Given the description of an element on the screen output the (x, y) to click on. 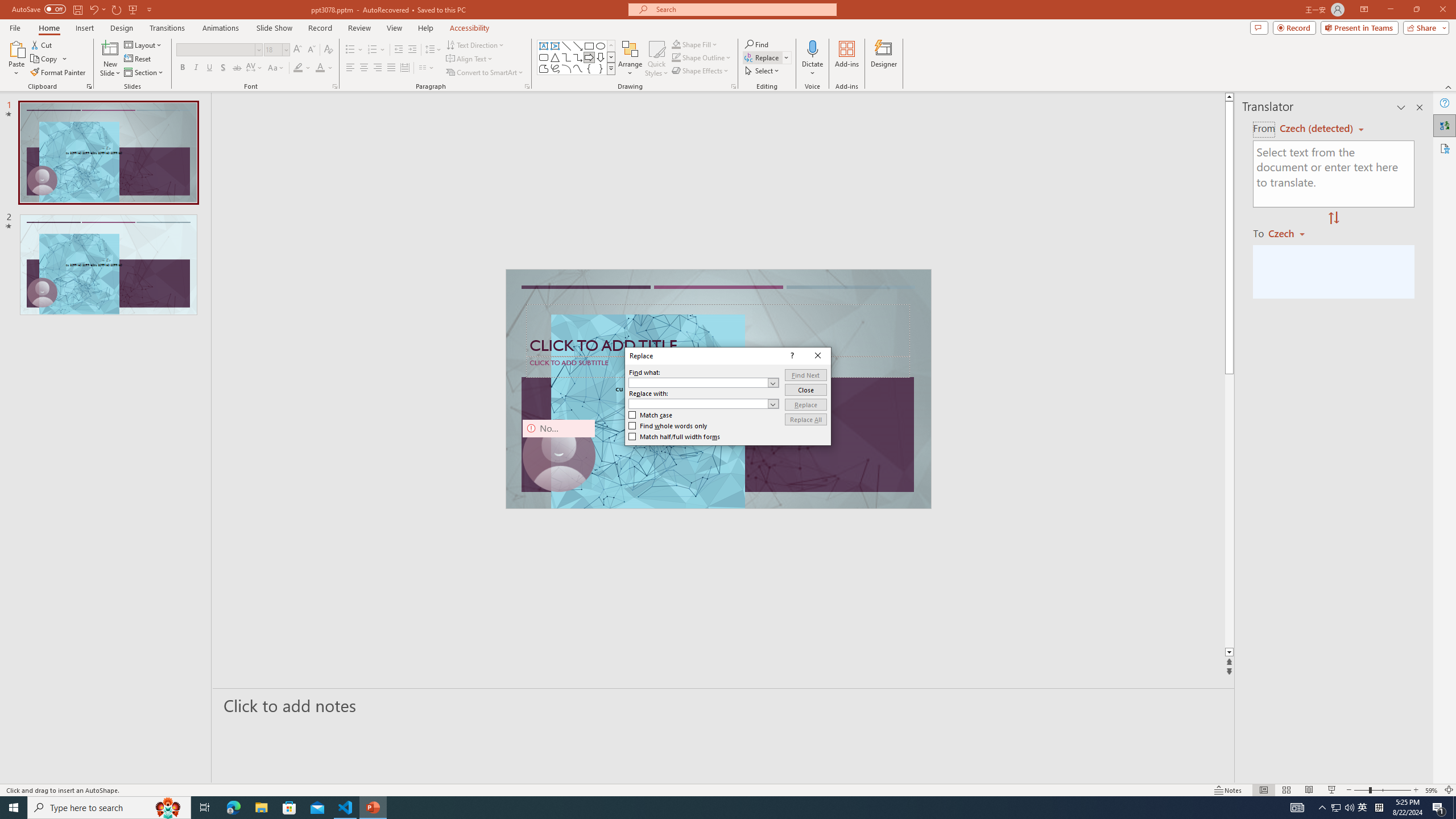
Shape Outline Green, Accent 1 (675, 56)
Czech (detected) (1317, 128)
Czech (1291, 232)
Find Next (805, 374)
